Given the description of an element on the screen output the (x, y) to click on. 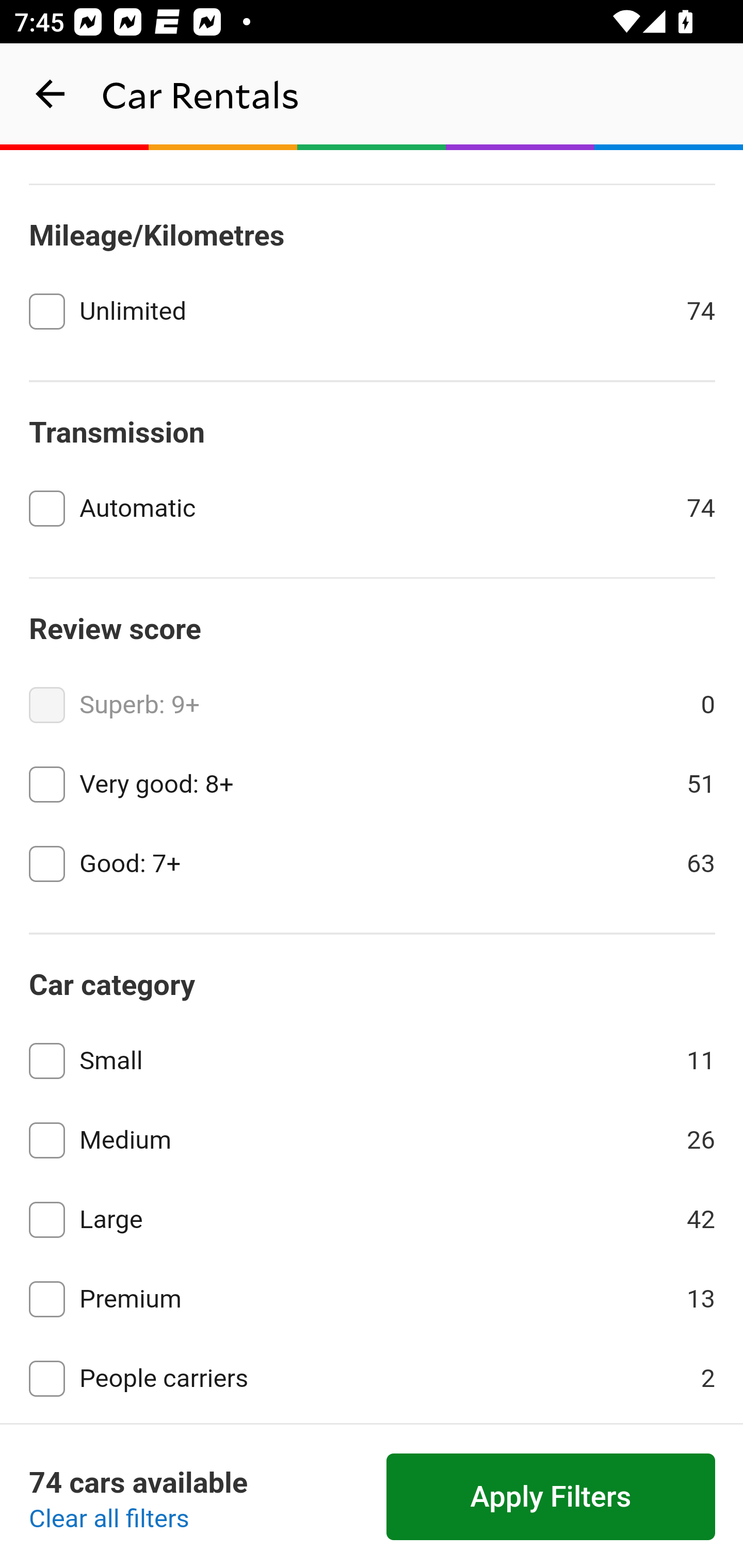
navigation_button (50, 93)
Apply Filters (551, 1497)
Clear all filters (108, 1519)
